Given the description of an element on the screen output the (x, y) to click on. 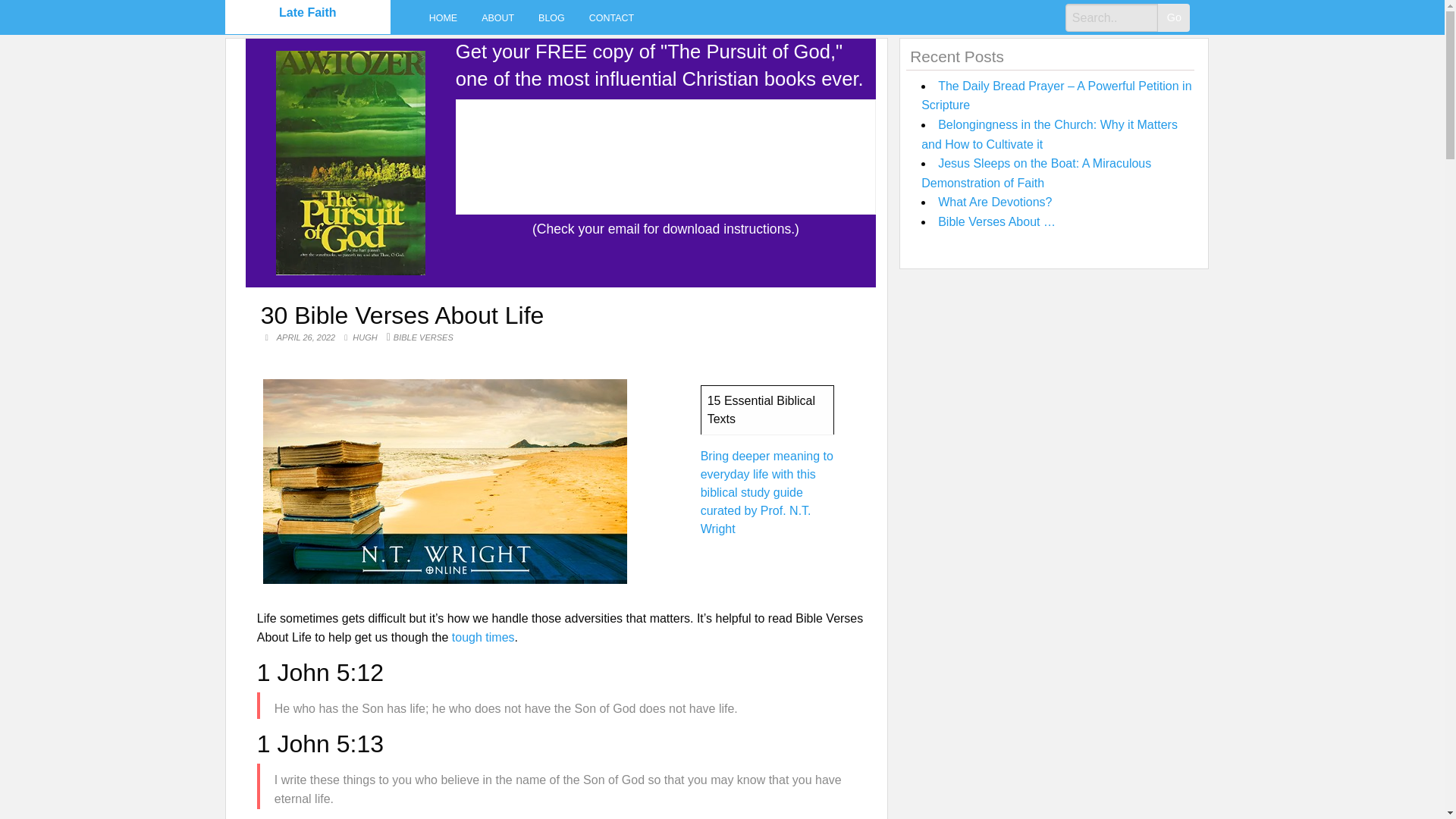
CONTACT (611, 17)
tough times (483, 636)
APRIL 26, 2022 (306, 337)
Go (1173, 17)
HUGH (365, 337)
HOME (442, 17)
Late Faith (307, 11)
BIBLE VERSES (422, 337)
Go (1173, 17)
ABOUT (496, 17)
BLOG (550, 17)
